Given the description of an element on the screen output the (x, y) to click on. 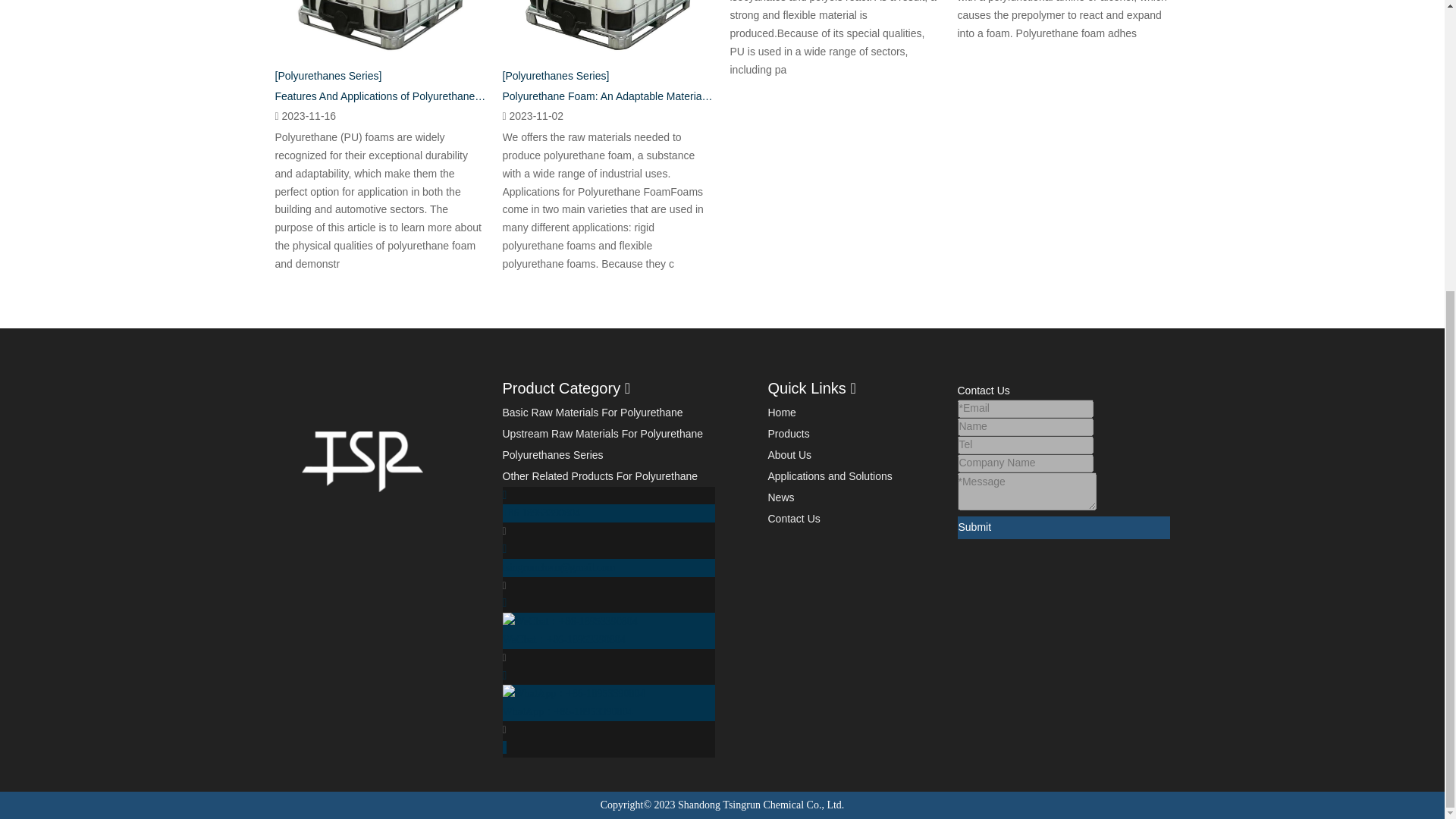
Basic Raw Materials For Polyurethane (592, 412)
Other Related Products For Polyurethane (599, 476)
News (780, 497)
Polyurethanes Series (552, 454)
Features And Applications of Polyurethane Foam (380, 96)
Products (788, 433)
Applications and Solutions (829, 476)
Home (780, 412)
Upstream Raw Materials For Polyurethane (602, 433)
Polyurethane Foam: An Adaptable Material with Numerous Uses (608, 96)
